Given the description of an element on the screen output the (x, y) to click on. 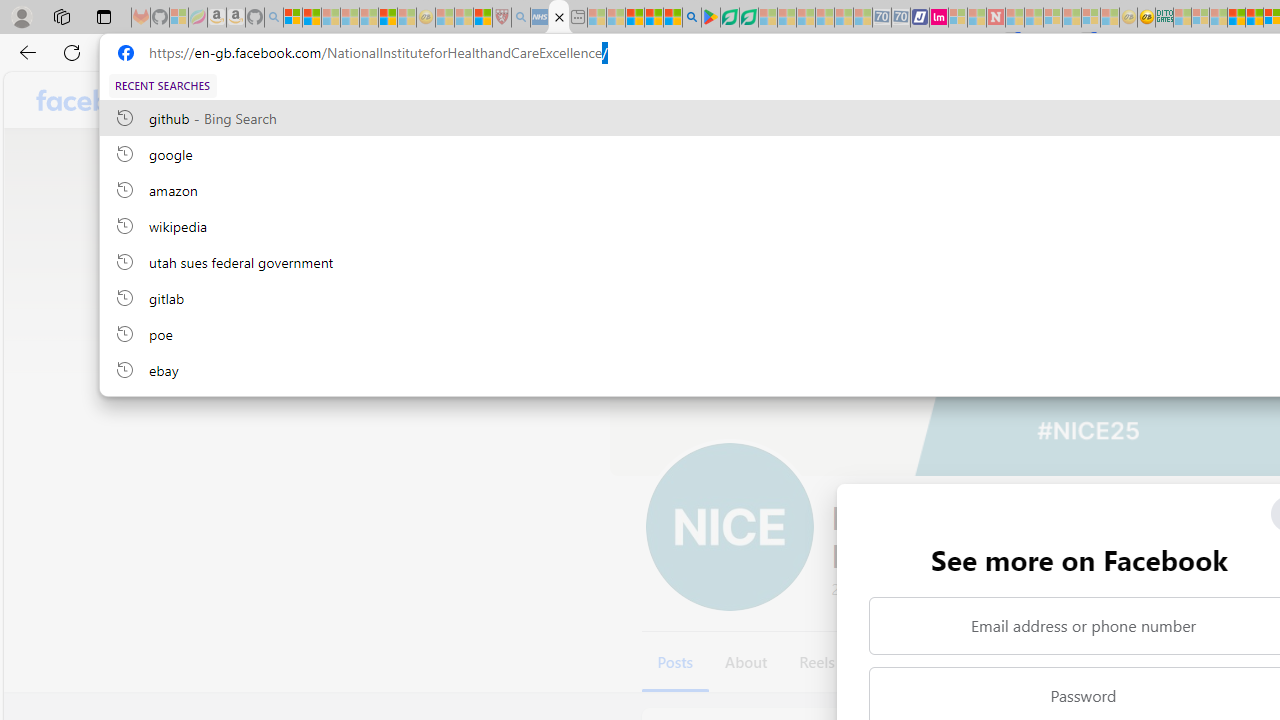
Microsoft Start - Sleeping (976, 17)
New Report Confirms 2023 Was Record Hot | Watch - Sleeping (368, 17)
Cheap Hotels - Save70.com - Sleeping (901, 17)
Microsoft account | Privacy - Sleeping (1200, 17)
list of asthma inhalers uk - Search - Sleeping (520, 17)
